Given the description of an element on the screen output the (x, y) to click on. 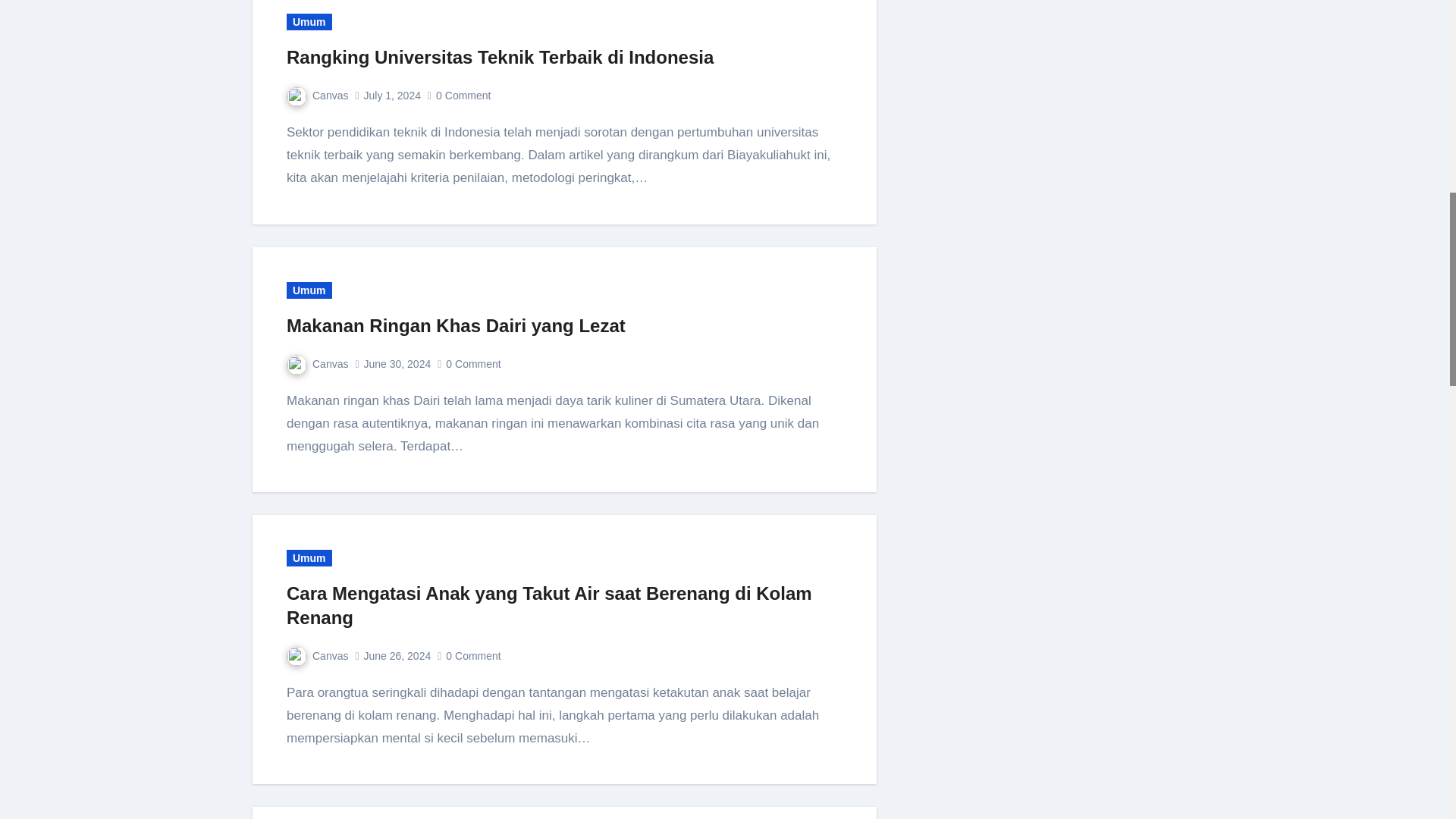
0Comment (474, 363)
Canvas (316, 363)
Umum (308, 289)
June 30, 2024 (396, 363)
July 1, 2024 (391, 95)
0Comment (464, 95)
Rangking Universitas Teknik Terbaik di Indonesia (499, 56)
Canvas (316, 95)
Makanan Ringan Khas Dairi yang Lezat (456, 325)
Umum (308, 21)
